Given the description of an element on the screen output the (x, y) to click on. 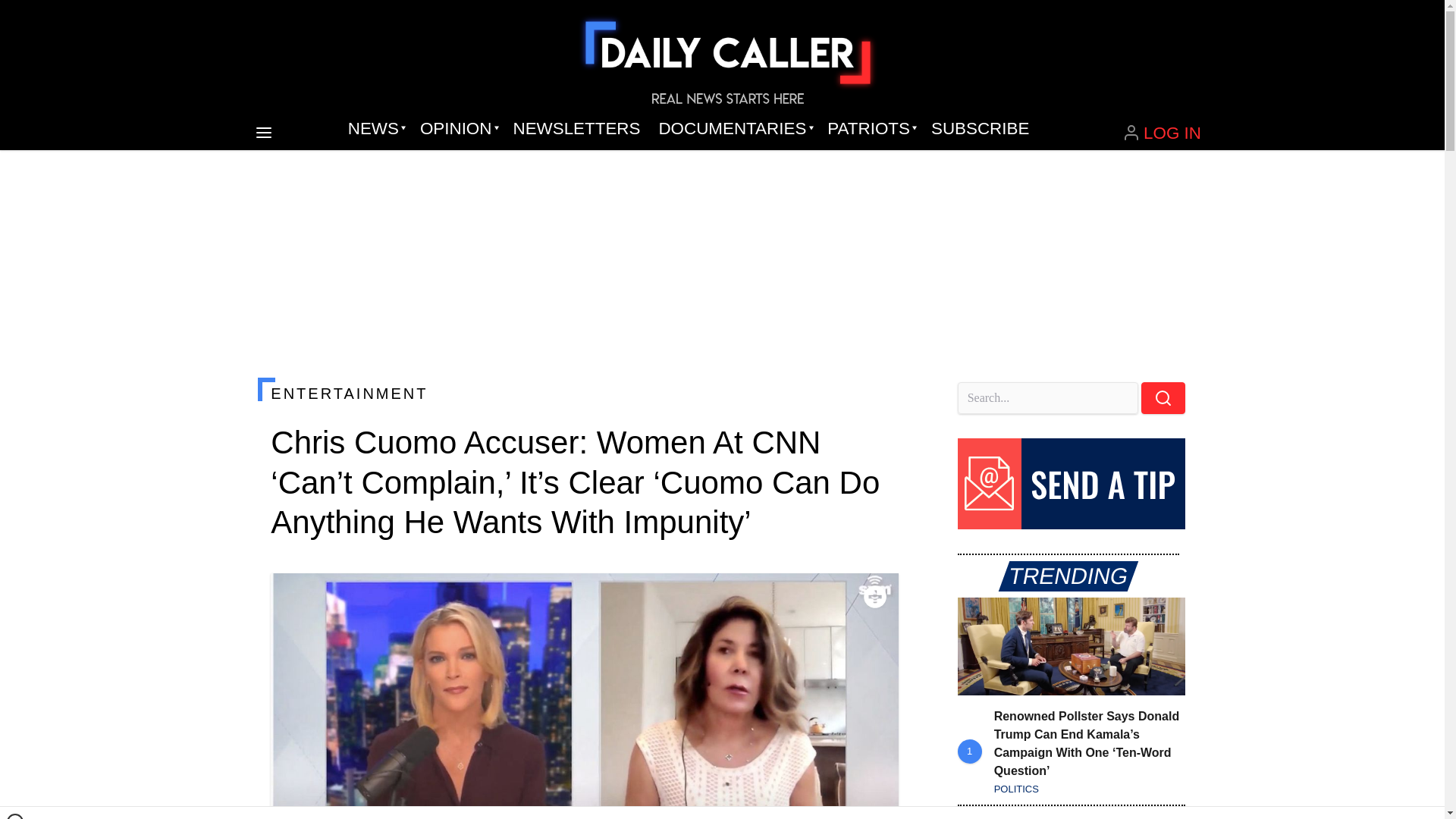
Close window (14, 816)
SUBSCRIBE (979, 128)
NEWSLETTERS (576, 128)
PATRIOTS (869, 128)
NEWS (374, 128)
DOCUMENTARIES (733, 128)
ENTERTAINMENT (584, 393)
OPINION (456, 128)
Toggle fullscreen (874, 596)
